Given the description of an element on the screen output the (x, y) to click on. 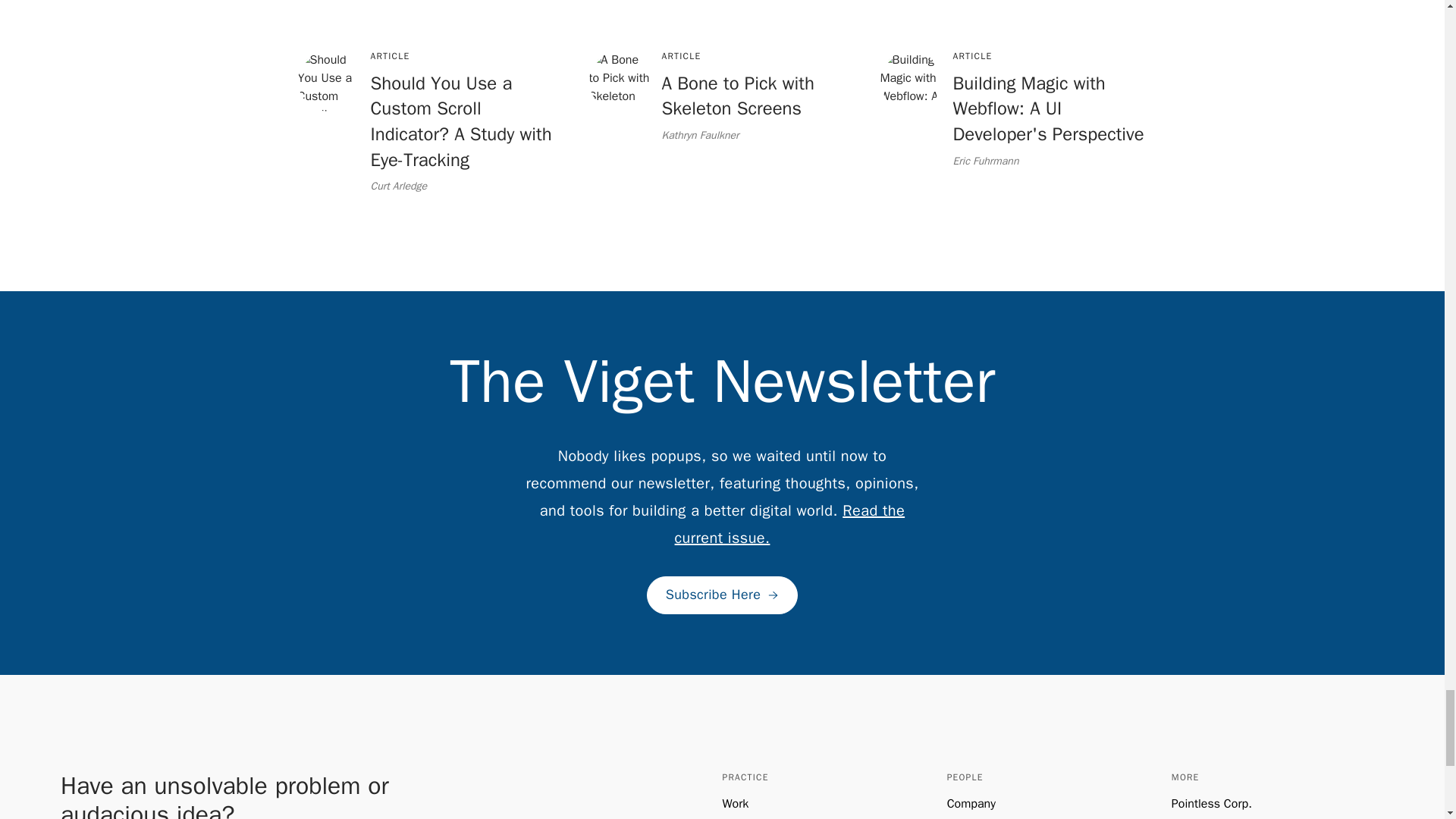
Read the current issue. (790, 524)
